Given the description of an element on the screen output the (x, y) to click on. 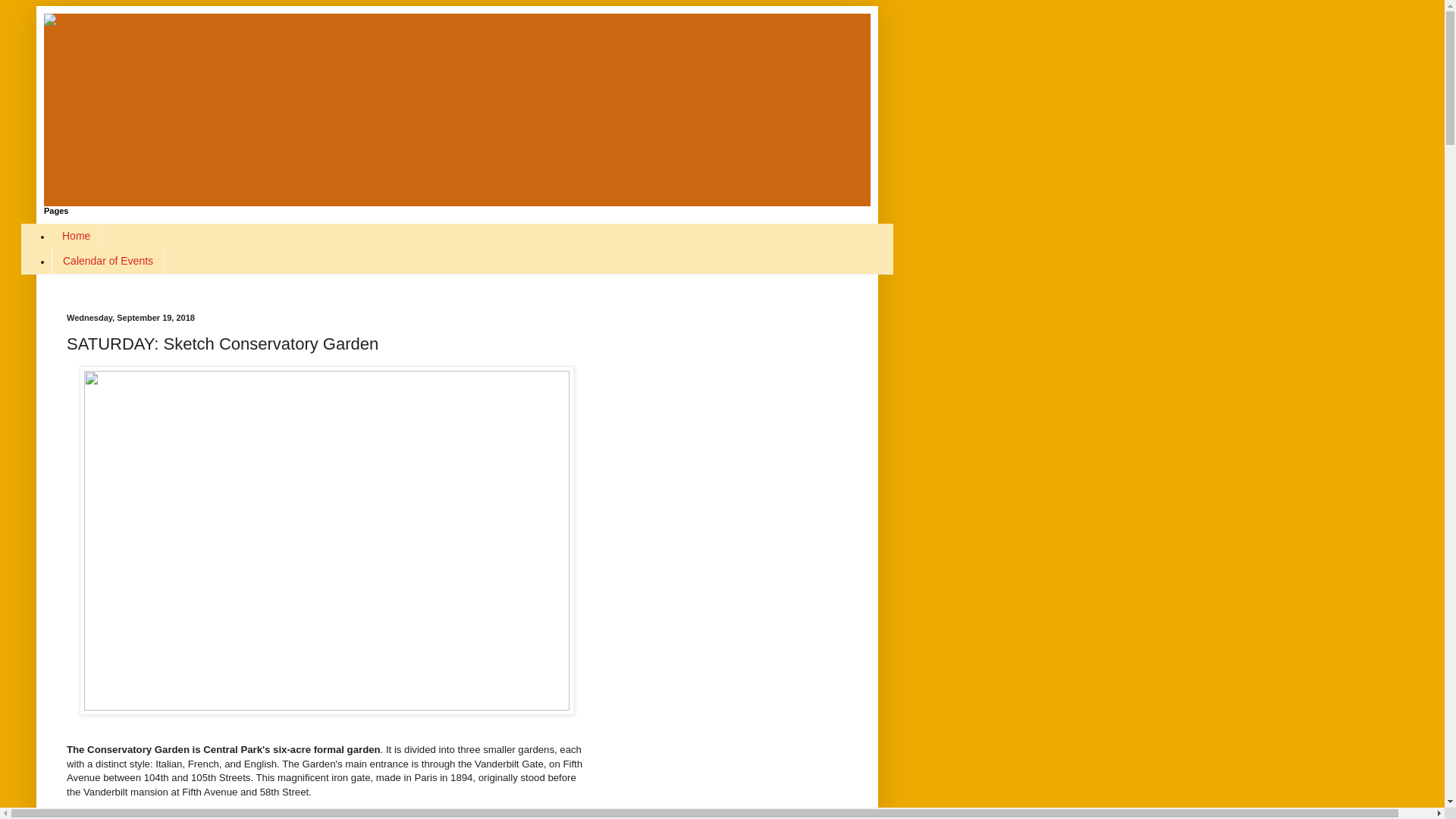
Calendar of Events (107, 260)
Home (75, 235)
